Given the description of an element on the screen output the (x, y) to click on. 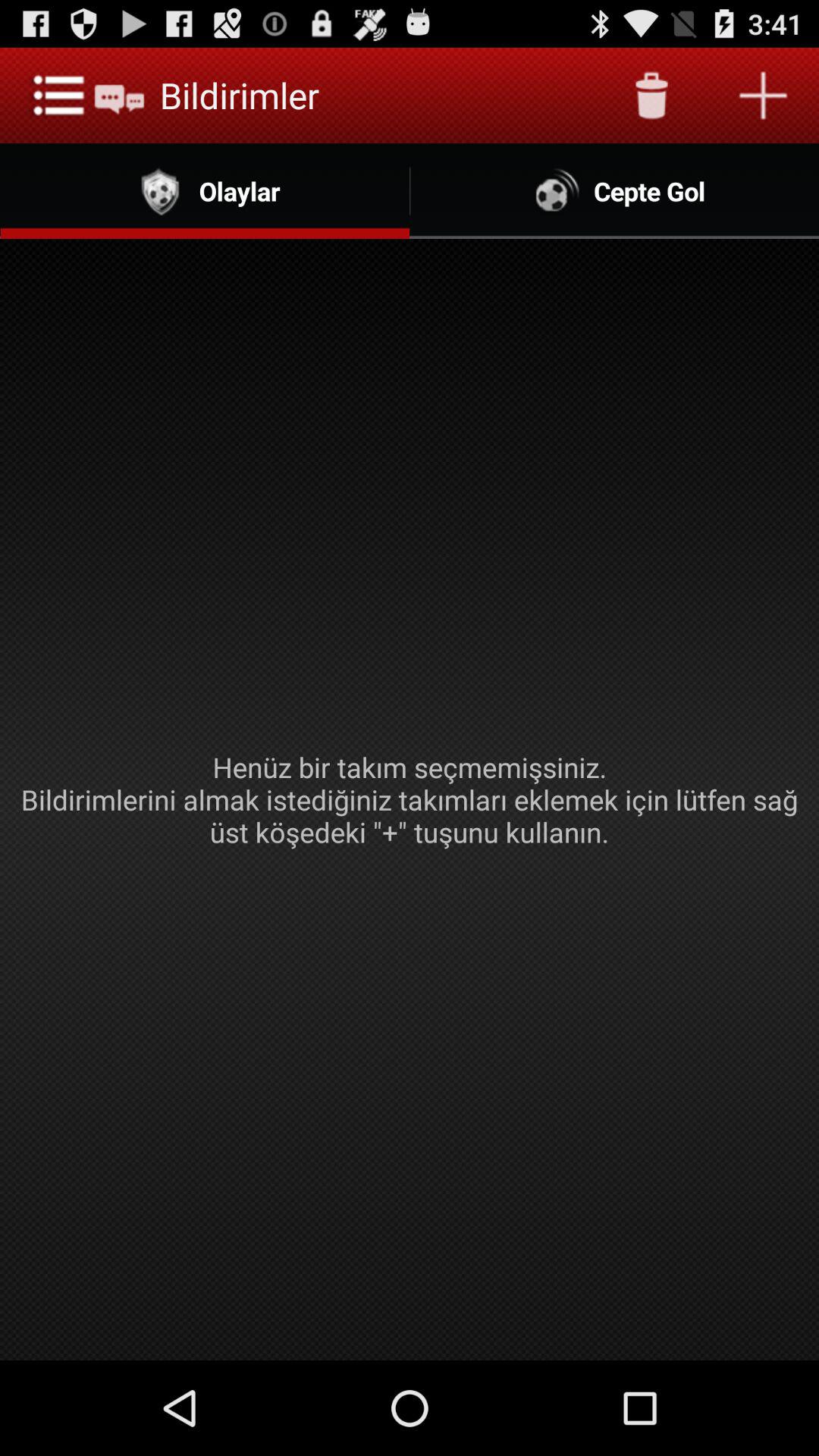
press item to the right of bildirimler item (651, 95)
